Given the description of an element on the screen output the (x, y) to click on. 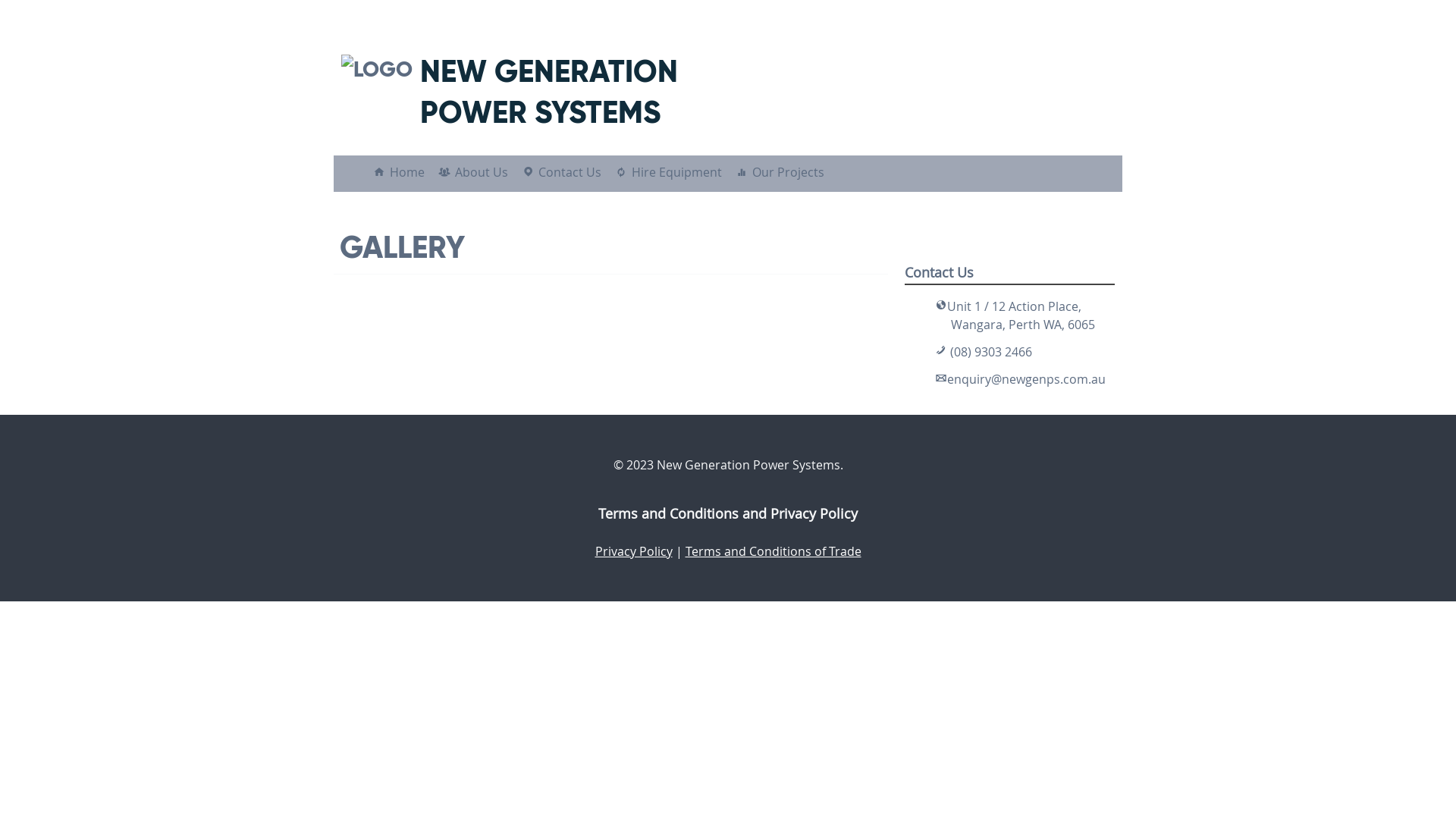
Hire Equipment Element type: text (676, 171)
Contact Us Element type: text (569, 171)
About Us Element type: text (481, 171)
Our Projects Element type: text (788, 171)
Terms and Conditions of Trade Element type: text (773, 550)
Home Element type: text (406, 171)
Privacy Policy Element type: text (632, 550)
NEW GENERATION
POWER SYSTEMS Element type: text (548, 91)
